Given the description of an element on the screen output the (x, y) to click on. 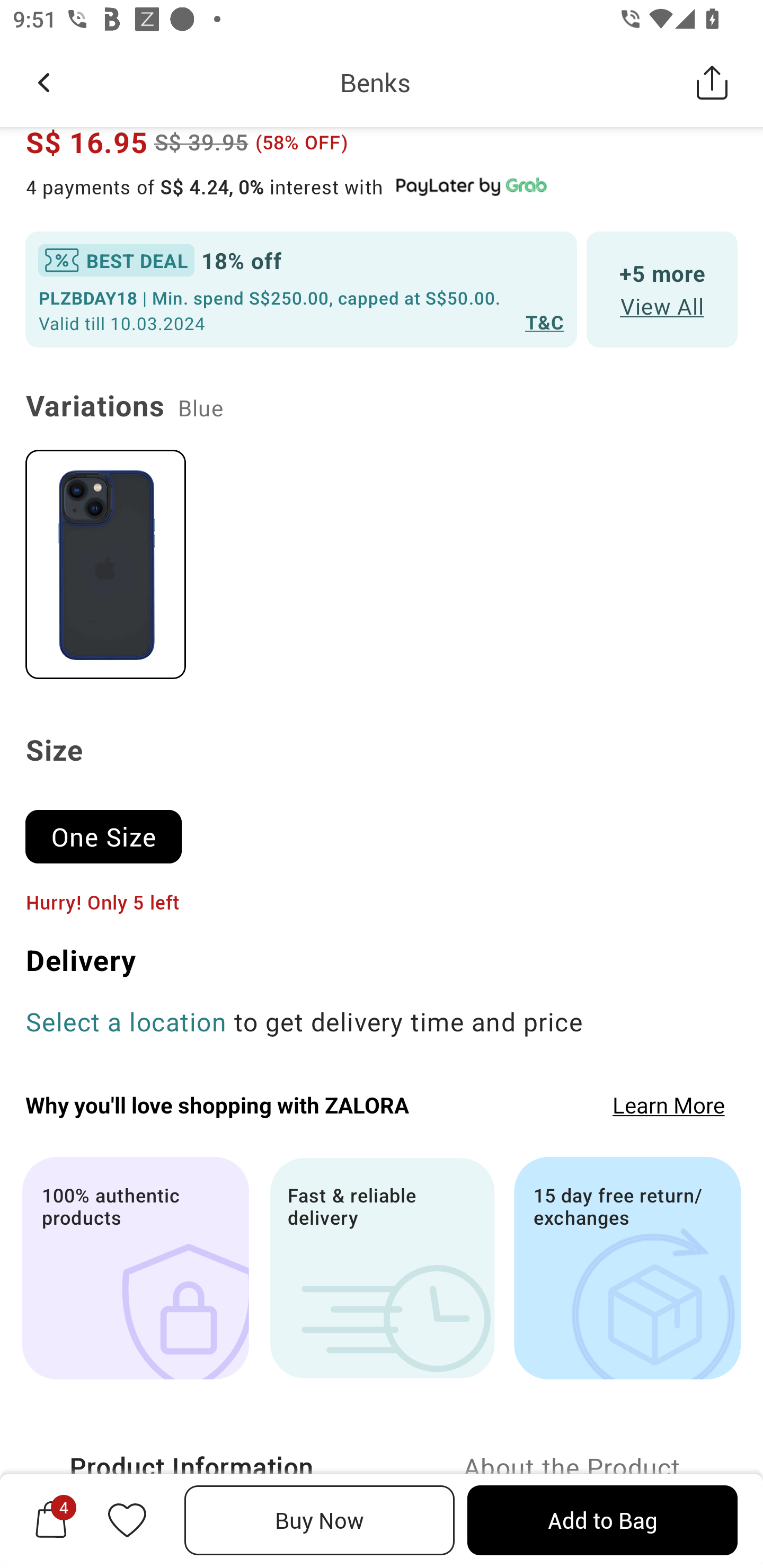
Benks (375, 82)
Share this Product (711, 82)
+5 more
View All (661, 290)
T&C (544, 321)
One Size (111, 828)
Learn More (668, 1104)
100% authentic products (135, 1267)
Fast & reliable delivery (381, 1267)
15 day free return/exchanges (627, 1267)
Buy Now (319, 1519)
Add to Bag (601, 1519)
4 (50, 1520)
